Given the description of an element on the screen output the (x, y) to click on. 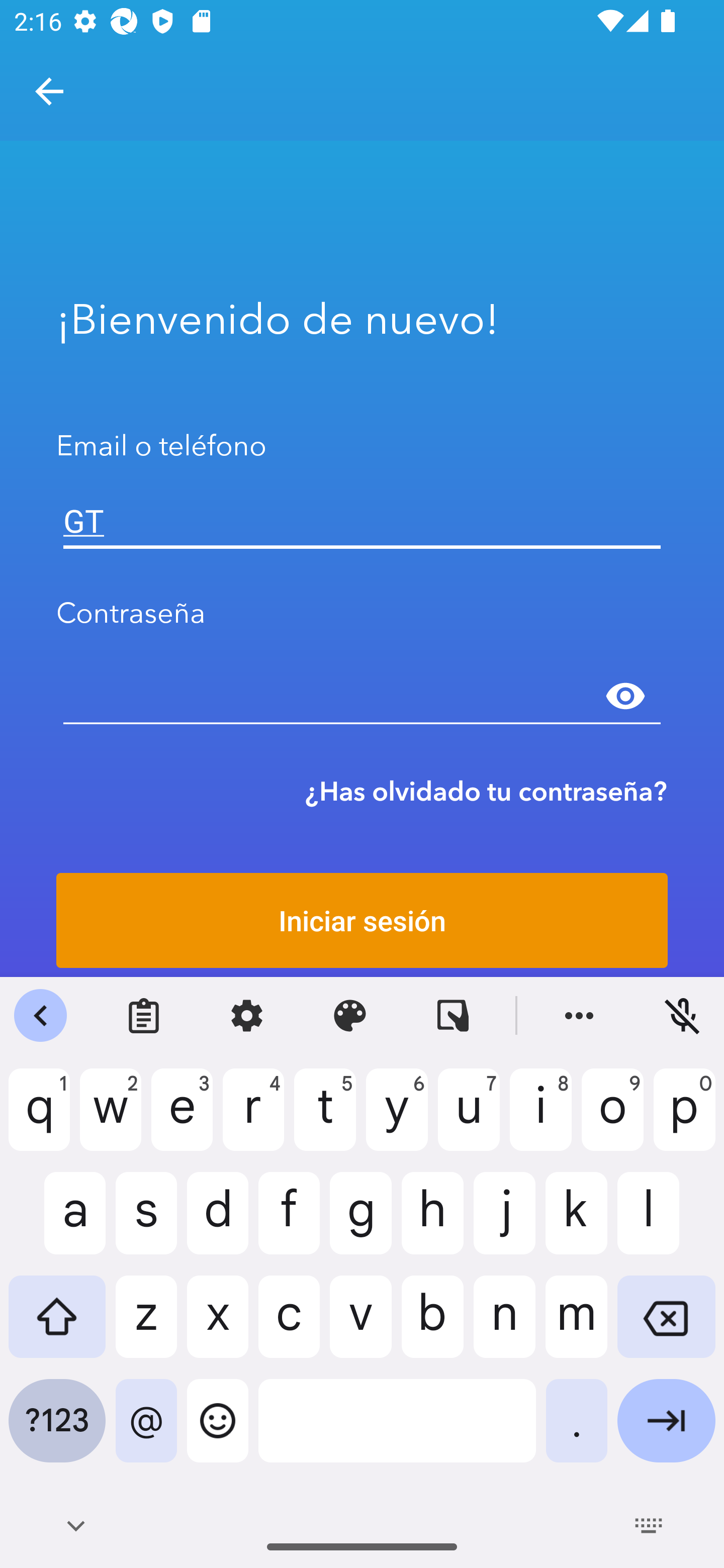
Navegar hacia arriba (49, 91)
GT (361, 521)
Mostrar contraseña (625, 695)
¿Has olvidado tu contraseña? (486, 790)
Iniciar sesión (361, 920)
